Given the description of an element on the screen output the (x, y) to click on. 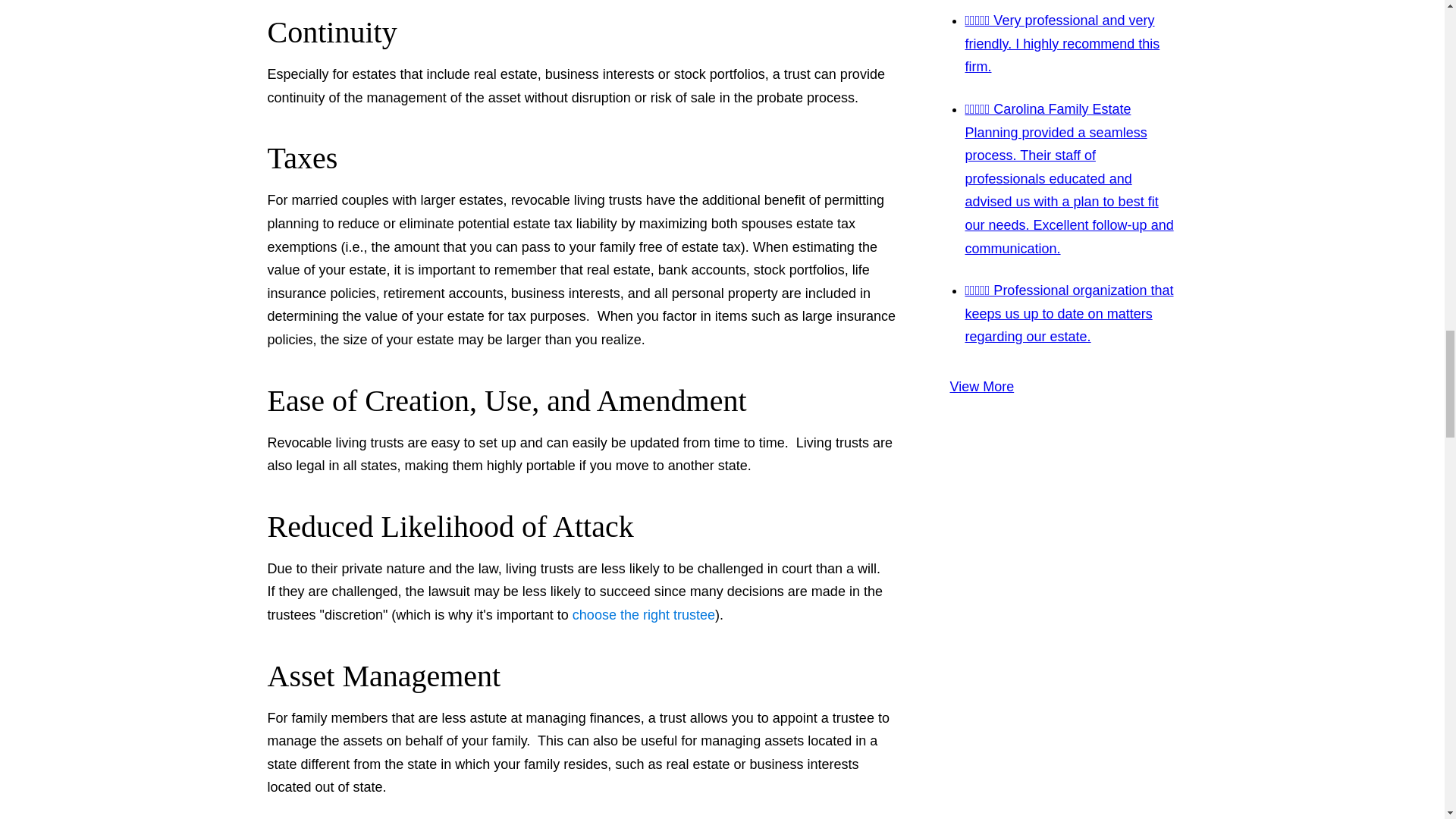
Choosing a Trustee (643, 614)
